Given the description of an element on the screen output the (x, y) to click on. 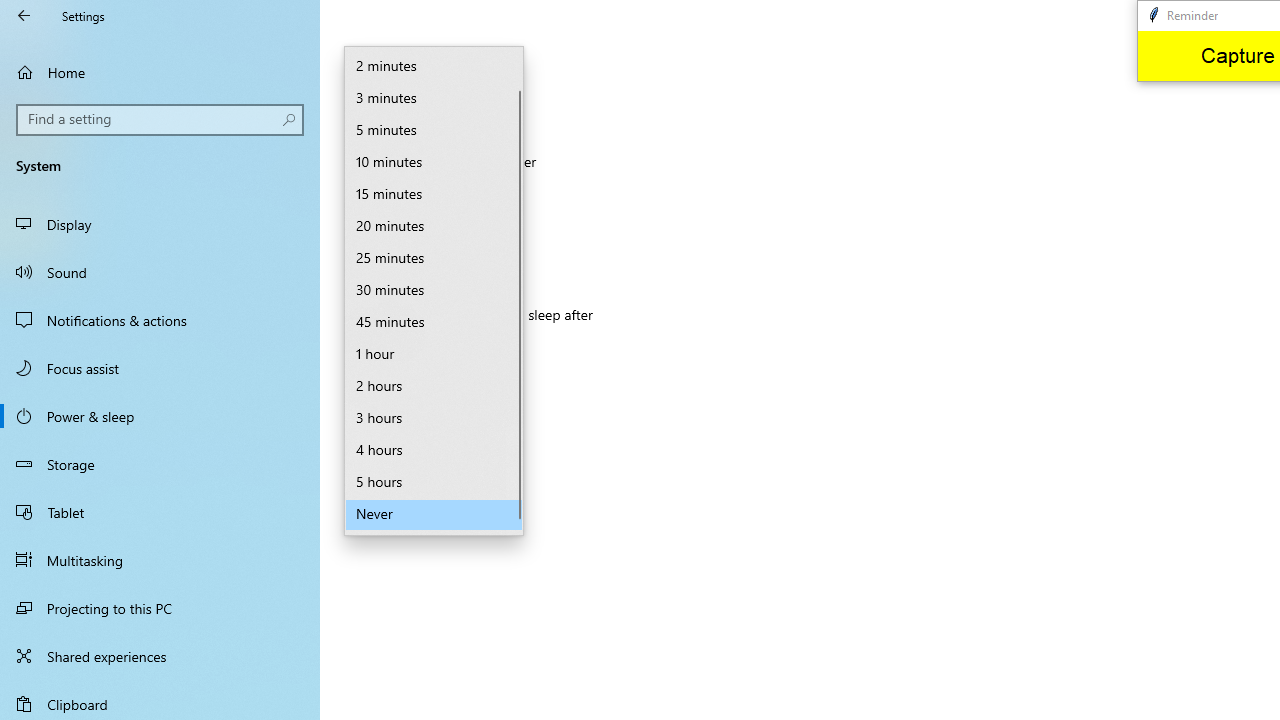
When plugged in, PC goes to sleep after (433, 347)
5 hours (434, 482)
When plugged in, turn off after (433, 194)
Sound (160, 271)
4 hours (434, 450)
Never (423, 347)
20 minutes (434, 226)
3 hours (434, 418)
Search box, Find a setting (160, 119)
2 hours (434, 386)
3 minutes (434, 98)
1 hour (434, 354)
Projecting to this PC (160, 607)
Power & sleep (160, 415)
